Given the description of an element on the screen output the (x, y) to click on. 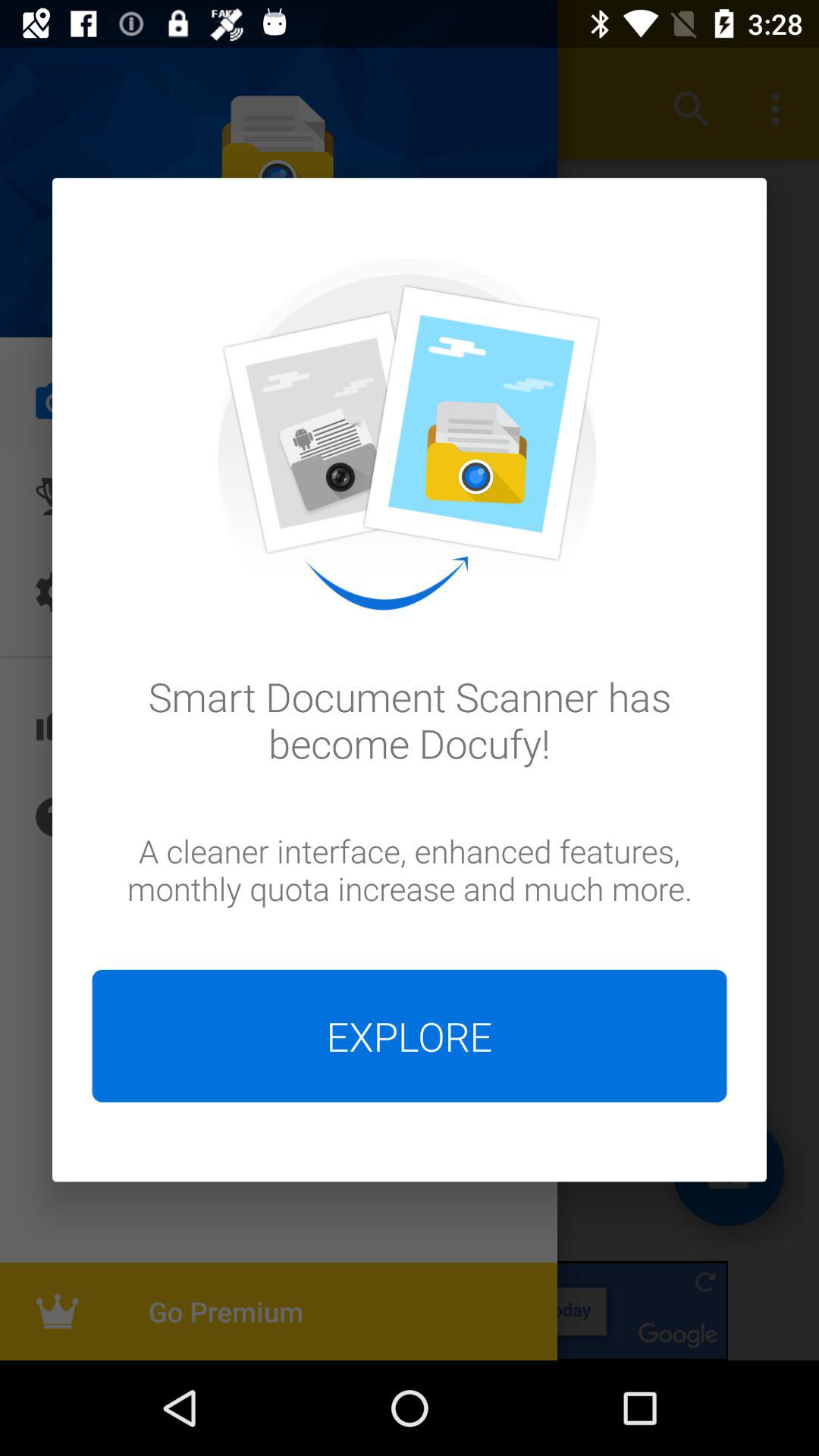
scroll until the explore icon (409, 1035)
